Given the description of an element on the screen output the (x, y) to click on. 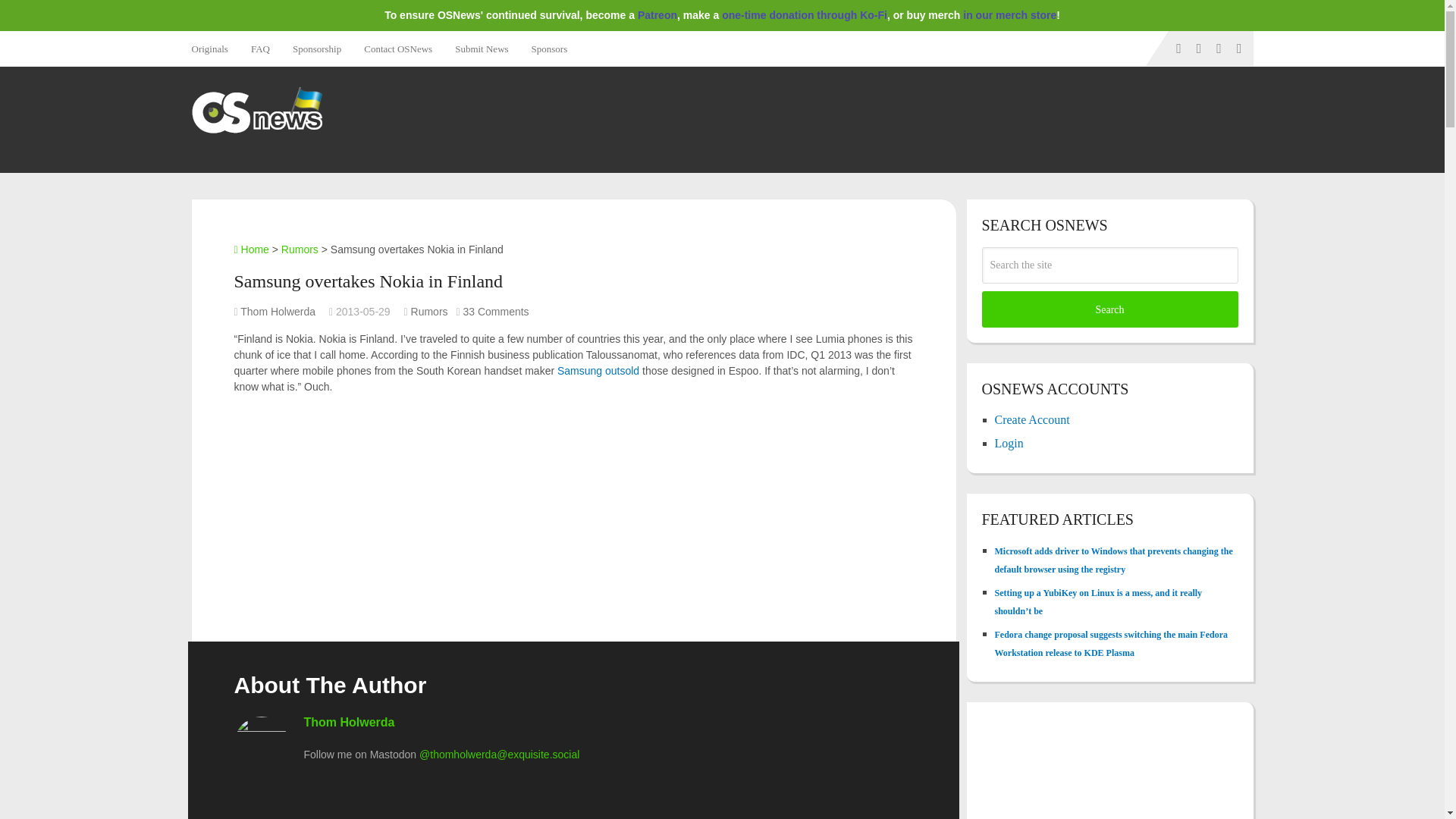
FAQ (260, 48)
Rumors (299, 249)
one-time donation through Ko-Fi (804, 15)
Thom Holwerda (348, 721)
33 Comments (495, 311)
 Home (249, 249)
Contact OSNews (398, 48)
Posts by Thom Holwerda (277, 311)
Rumors (429, 311)
Sponsorship (316, 48)
